Given the description of an element on the screen output the (x, y) to click on. 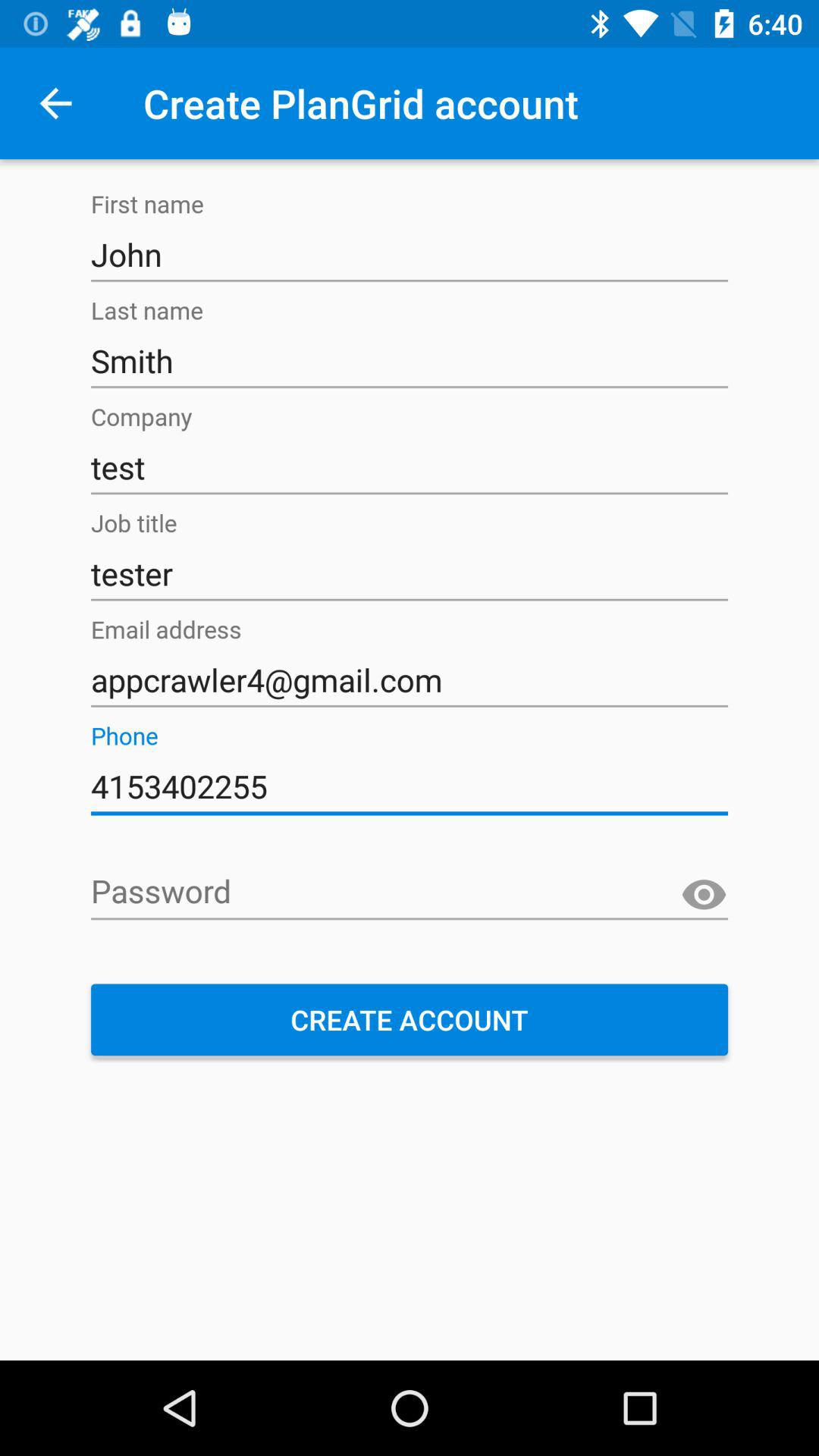
swipe until the appcrawler4@gmail.com item (409, 680)
